Given the description of an element on the screen output the (x, y) to click on. 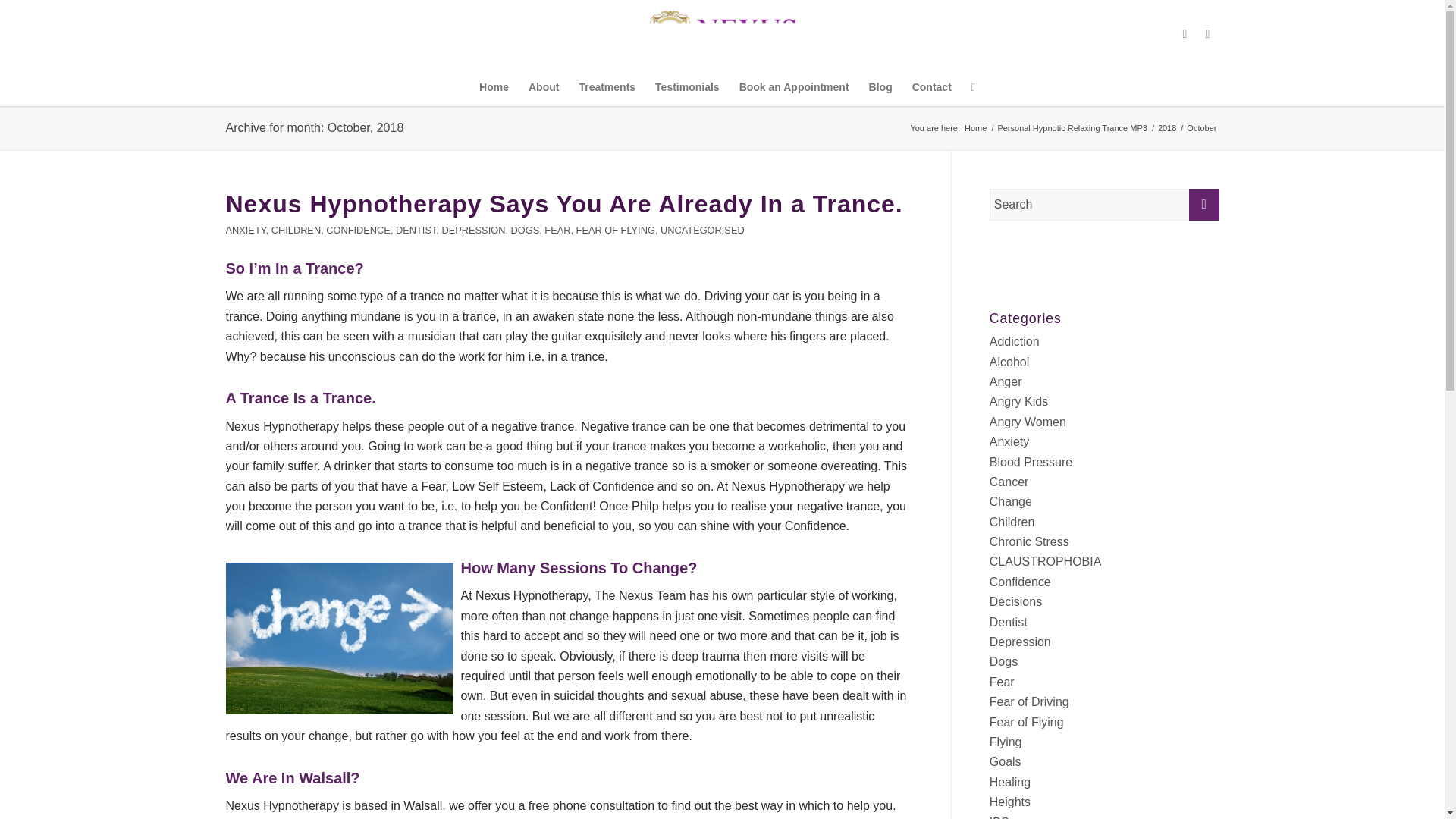
Testimonials (687, 86)
Facebook (1184, 33)
2018 (1166, 128)
Home (975, 128)
DENTIST (415, 229)
DOGS (525, 229)
Nexus Hypnosis (975, 128)
Personal Hypnotic Relaxing Trance MP3 (1071, 128)
CHILDREN (295, 229)
DEPRESSION (473, 229)
CONFIDENCE (358, 229)
UNCATEGORISED (702, 229)
Mail (1208, 33)
FEAR OF FLYING (615, 229)
Personal Hypnotic Relaxing Trance MP3 (1071, 128)
